Given the description of an element on the screen output the (x, y) to click on. 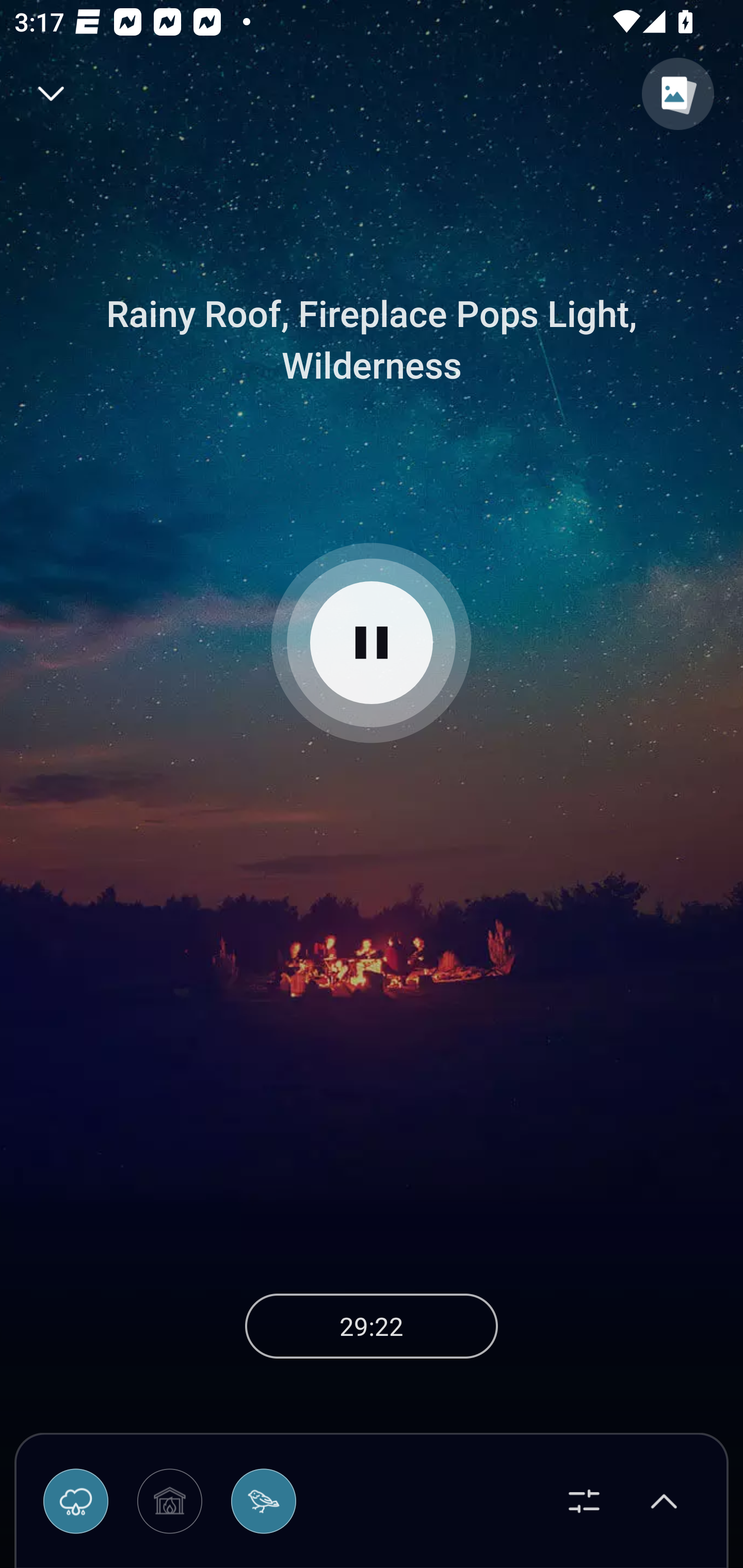
29:22 (371, 1325)
